Given the description of an element on the screen output the (x, y) to click on. 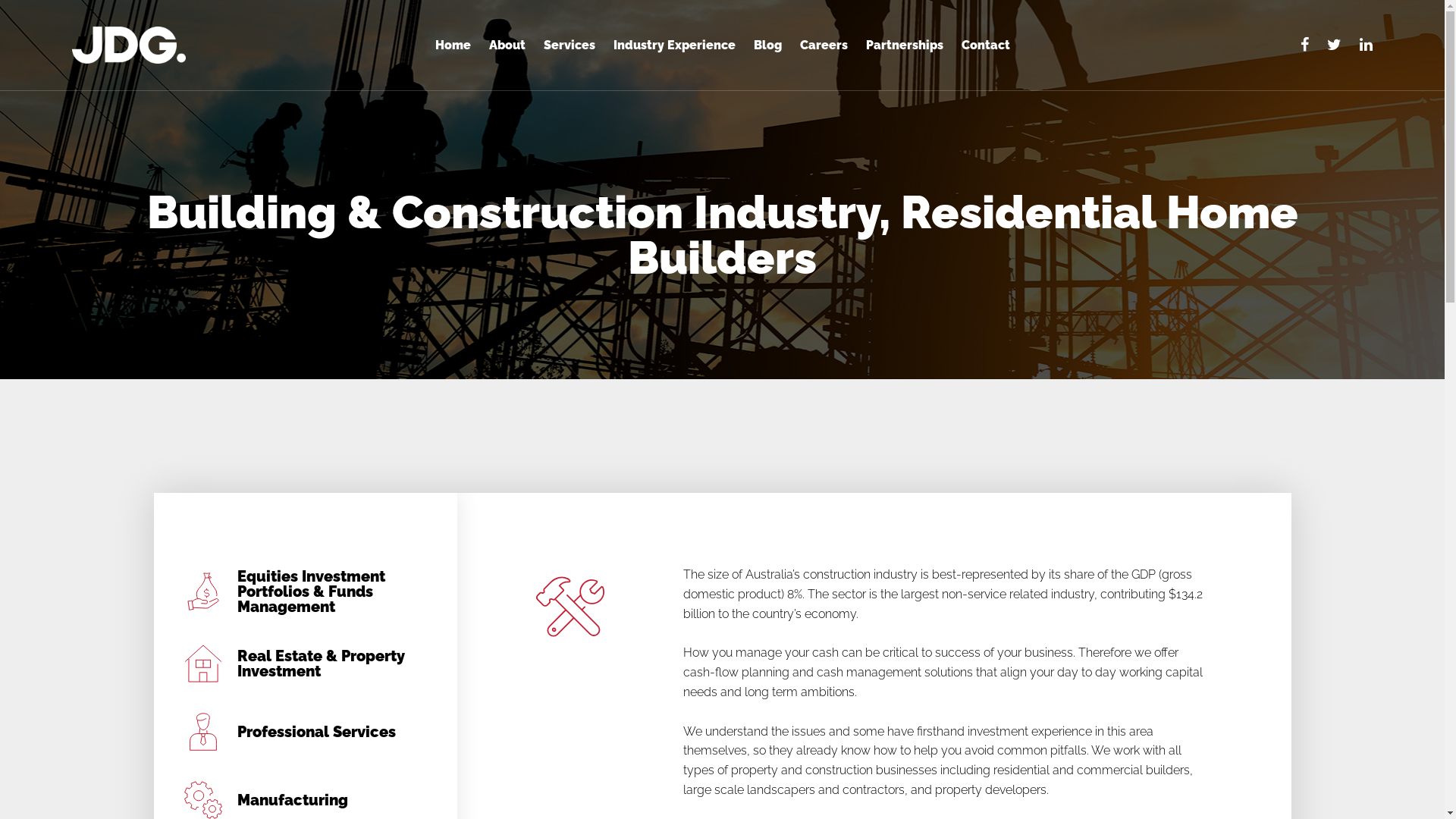
Home Element type: text (452, 48)
Partnerships Element type: text (904, 48)
Blog Element type: text (767, 48)
Services Element type: text (568, 48)
Equities Investment Portfolios & Funds Management Element type: text (305, 591)
Professional Services Element type: text (305, 731)
Industry Experience Element type: text (673, 48)
Careers Element type: text (823, 48)
About Element type: text (506, 48)
Contact Element type: text (985, 48)
Real Estate & Property Investment Element type: text (305, 663)
